Given the description of an element on the screen output the (x, y) to click on. 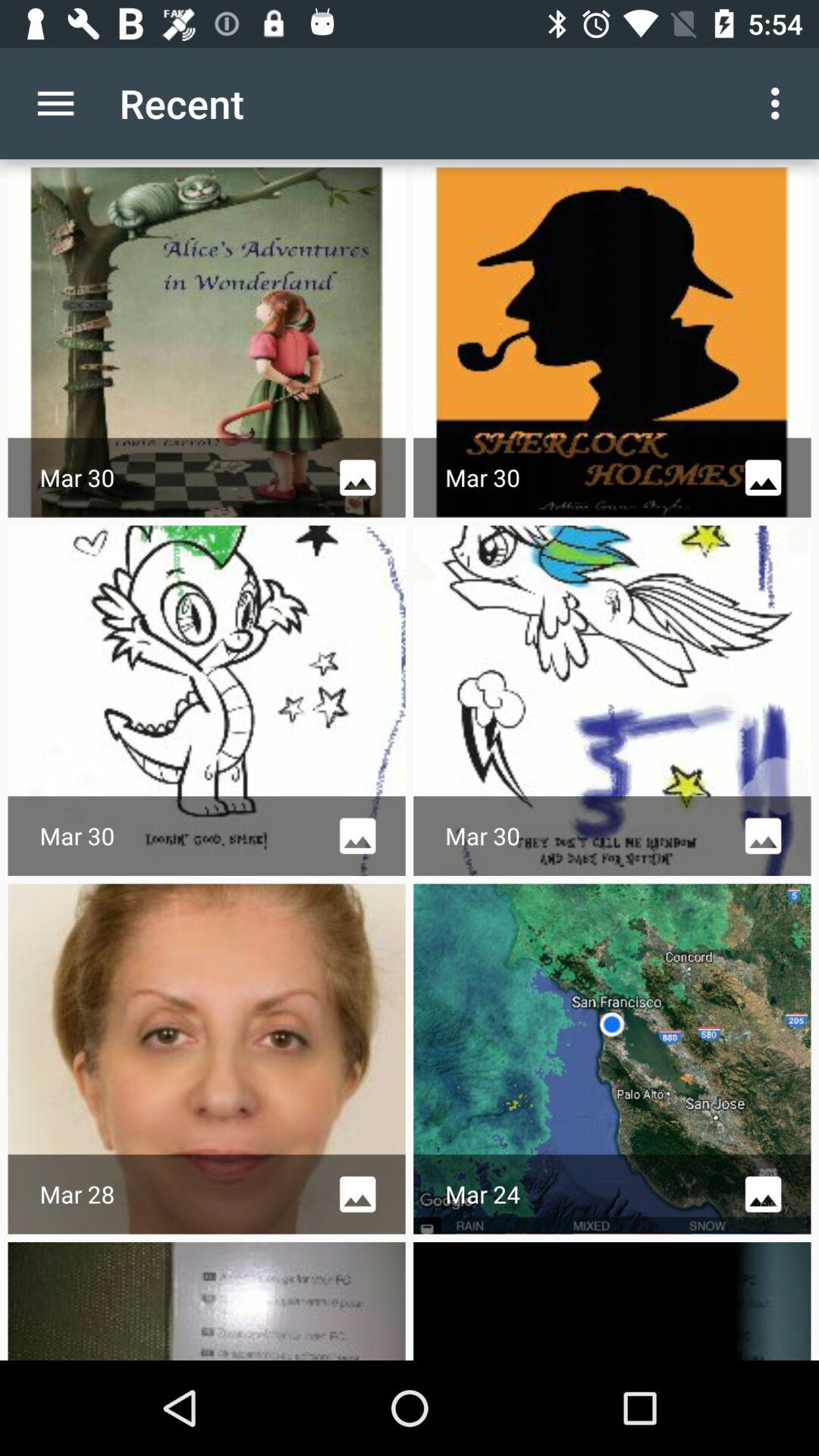
turn off app to the left of recent app (55, 103)
